Given the description of an element on the screen output the (x, y) to click on. 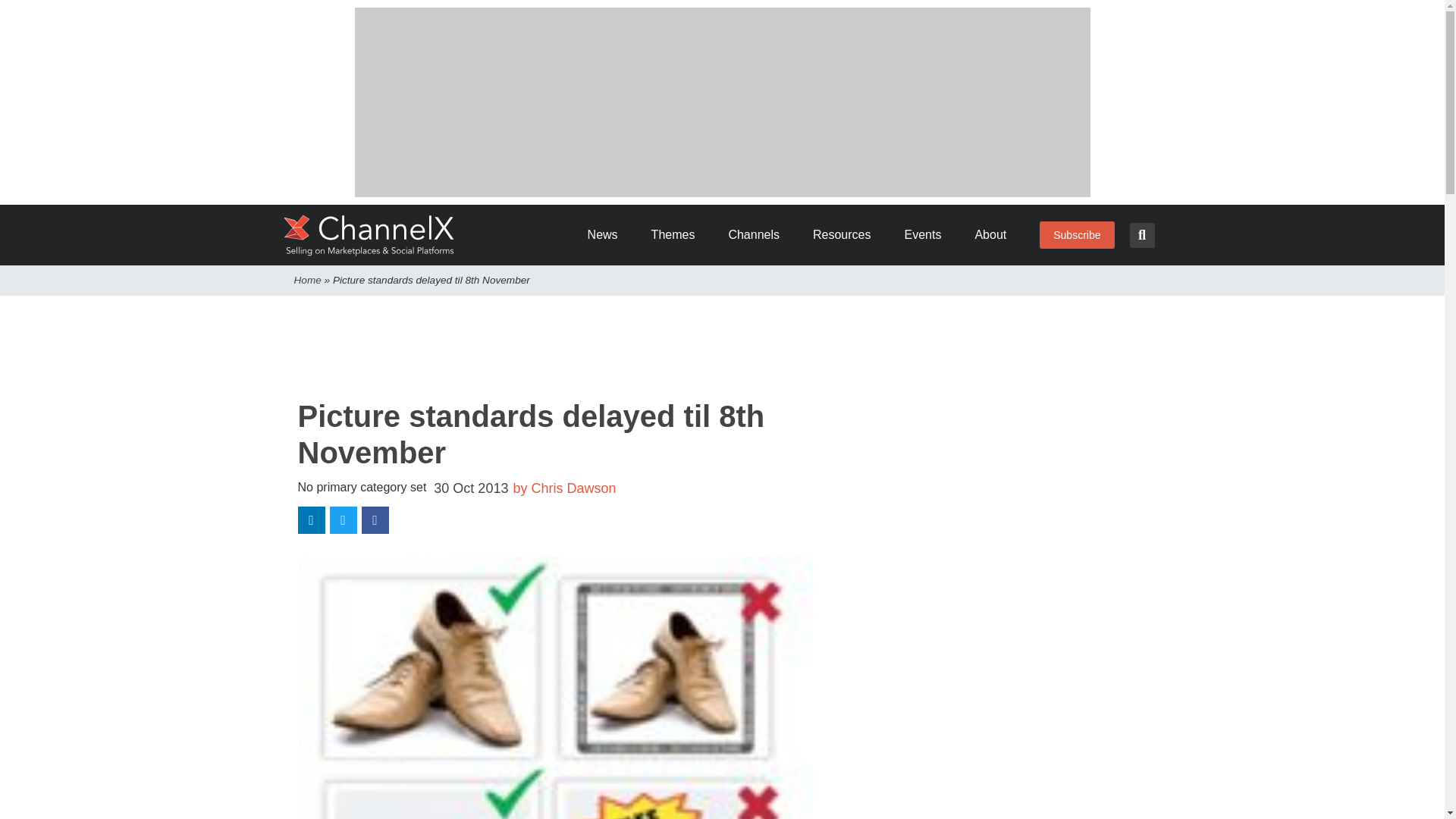
Channels (758, 234)
ChannelX Home Page (369, 234)
News (607, 234)
Resources (846, 234)
Themes (678, 234)
